Given the description of an element on the screen output the (x, y) to click on. 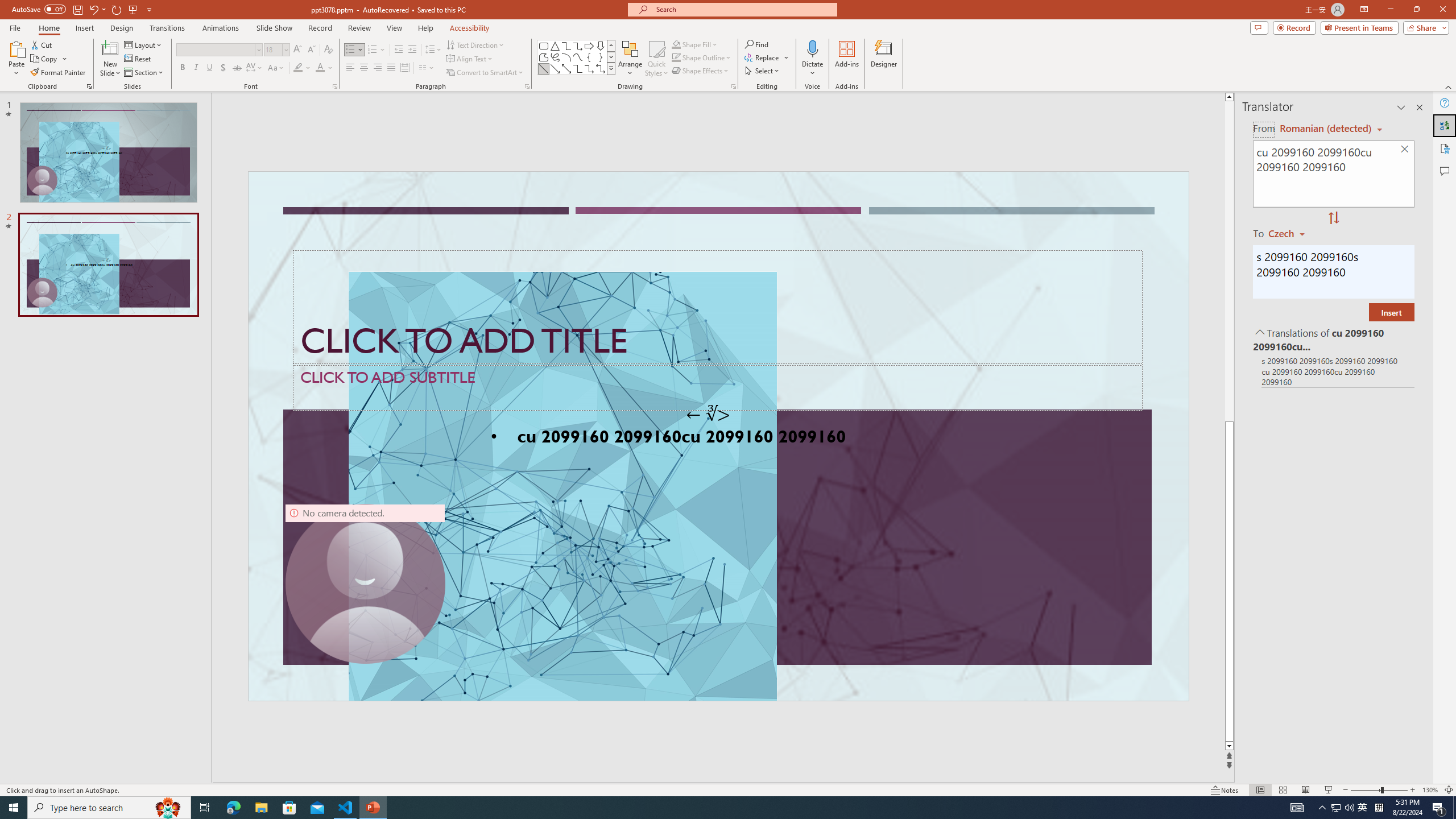
Swap "from" and "to" languages. (1333, 218)
